Given the description of an element on the screen output the (x, y) to click on. 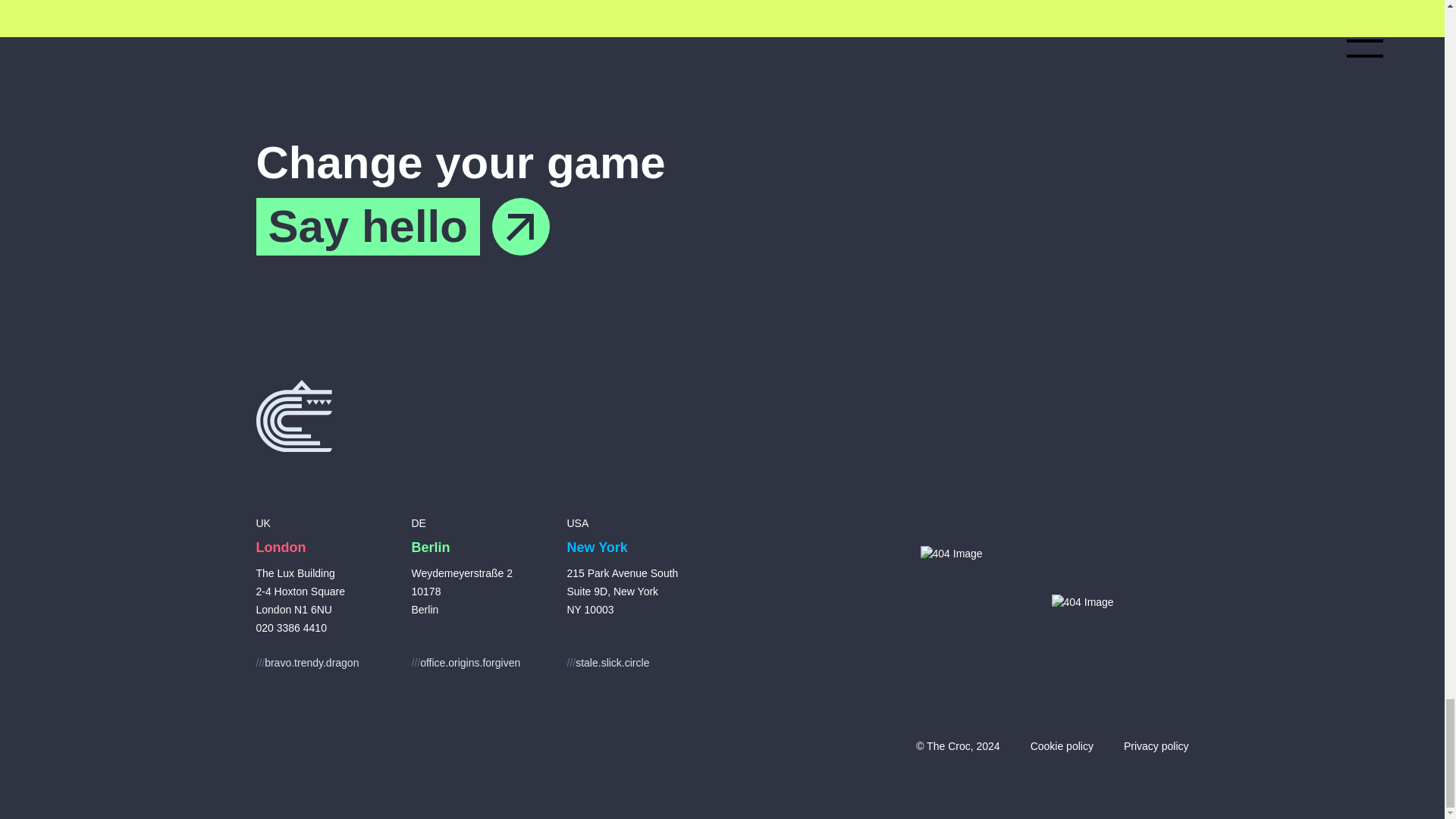
020 3386 4410 (291, 627)
Say hello (403, 226)
Cookie policy (1061, 746)
Privacy policy (1156, 746)
